Given the description of an element on the screen output the (x, y) to click on. 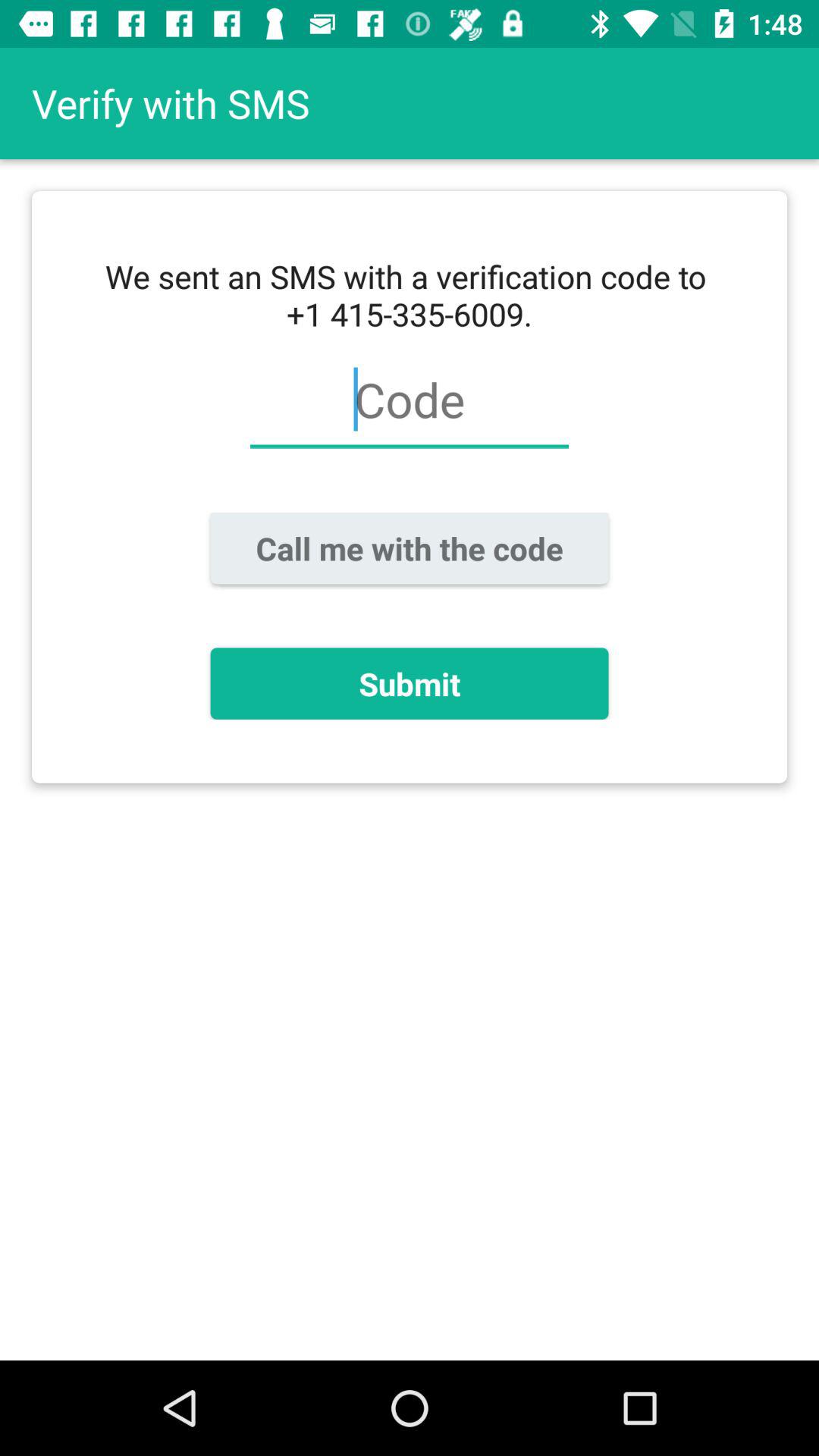
choose the item above the call me with item (409, 407)
